Given the description of an element on the screen output the (x, y) to click on. 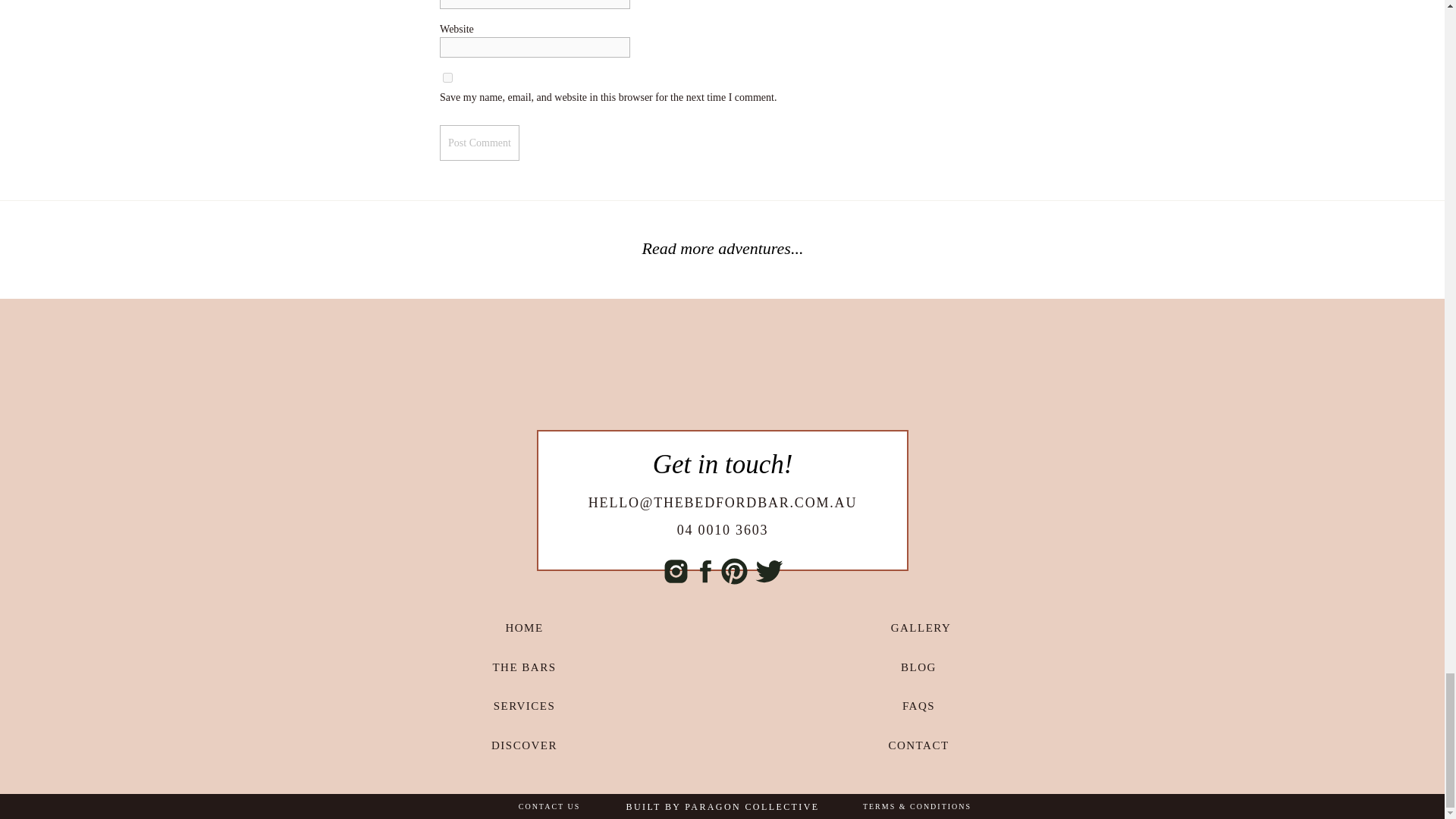
CONTACT (919, 744)
Post Comment (479, 142)
HOME (524, 626)
DISCOVER (524, 744)
CONTACT US (548, 806)
THE BARS (524, 666)
BUILT BY PARAGON COLLECTIVE (722, 806)
SERVICES (524, 705)
BLOG (919, 666)
Read more adventures... (722, 250)
Post Comment (479, 142)
04 0010 3603 (722, 529)
FAQS (919, 705)
GALLERY (920, 626)
yes (447, 77)
